Given the description of an element on the screen output the (x, y) to click on. 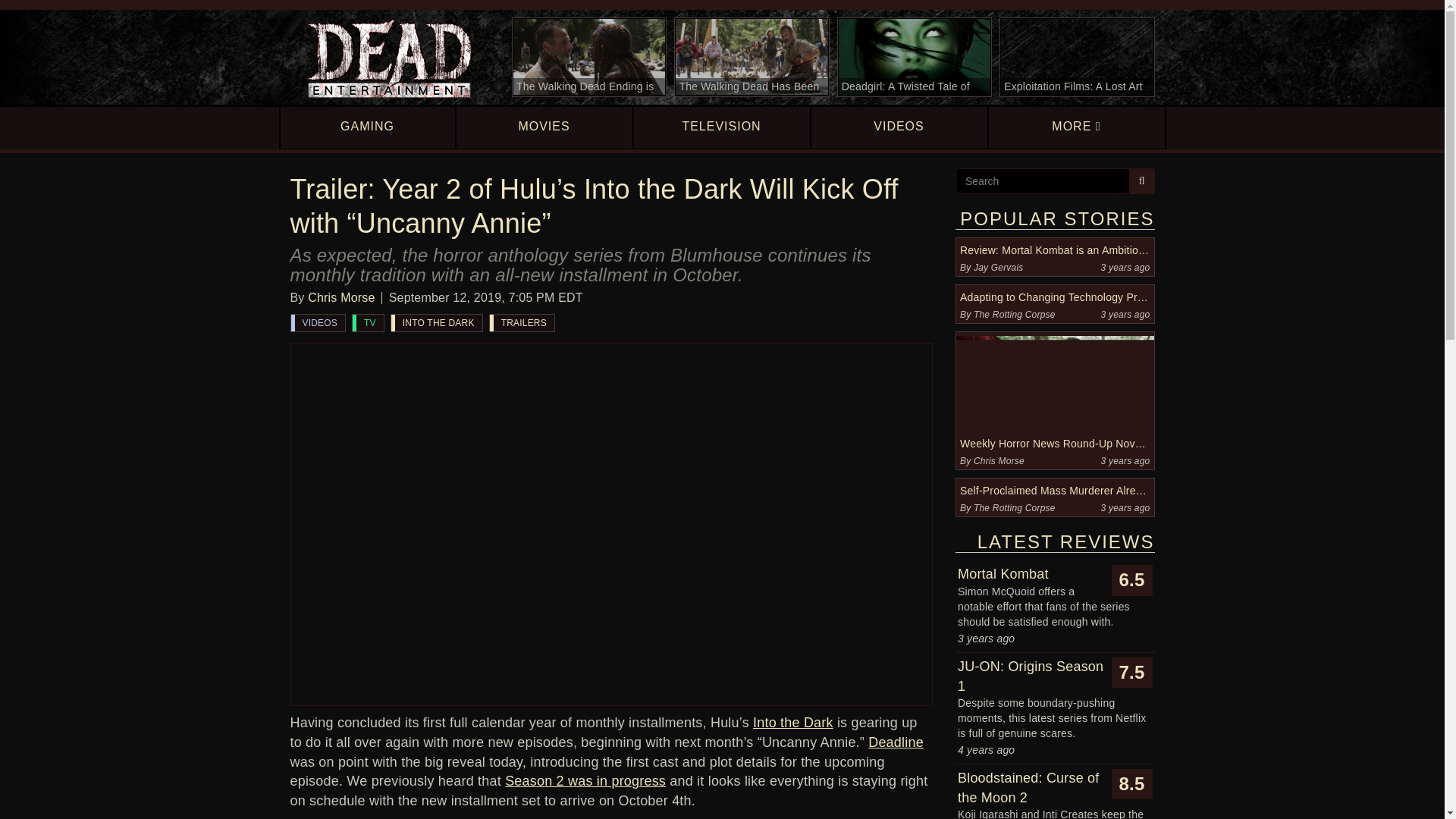
Deadline (895, 742)
Chris Morse (340, 297)
Into the Dark (792, 722)
TV (368, 322)
TRAILERS (521, 322)
Deadgirl: A Twisted Tale of Lust and "True" Love (914, 57)
VIDEOS (318, 322)
INTO THE DARK (436, 322)
Season 2 was in progress (585, 780)
Exploitation Films: A Lost Art and Genre of Decades Past (1076, 57)
